Given the description of an element on the screen output the (x, y) to click on. 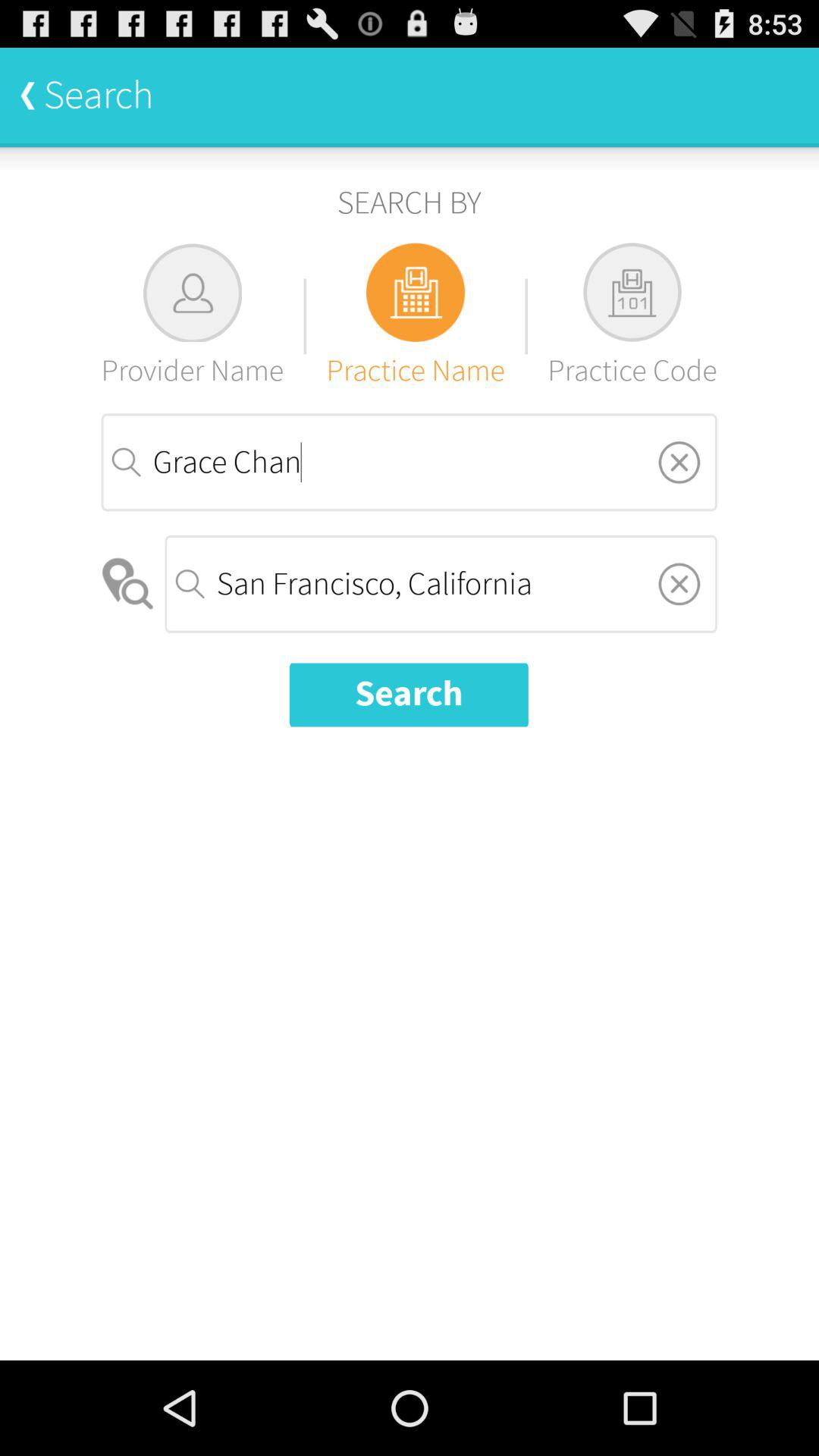
swipe to the practice name icon (415, 315)
